Given the description of an element on the screen output the (x, y) to click on. 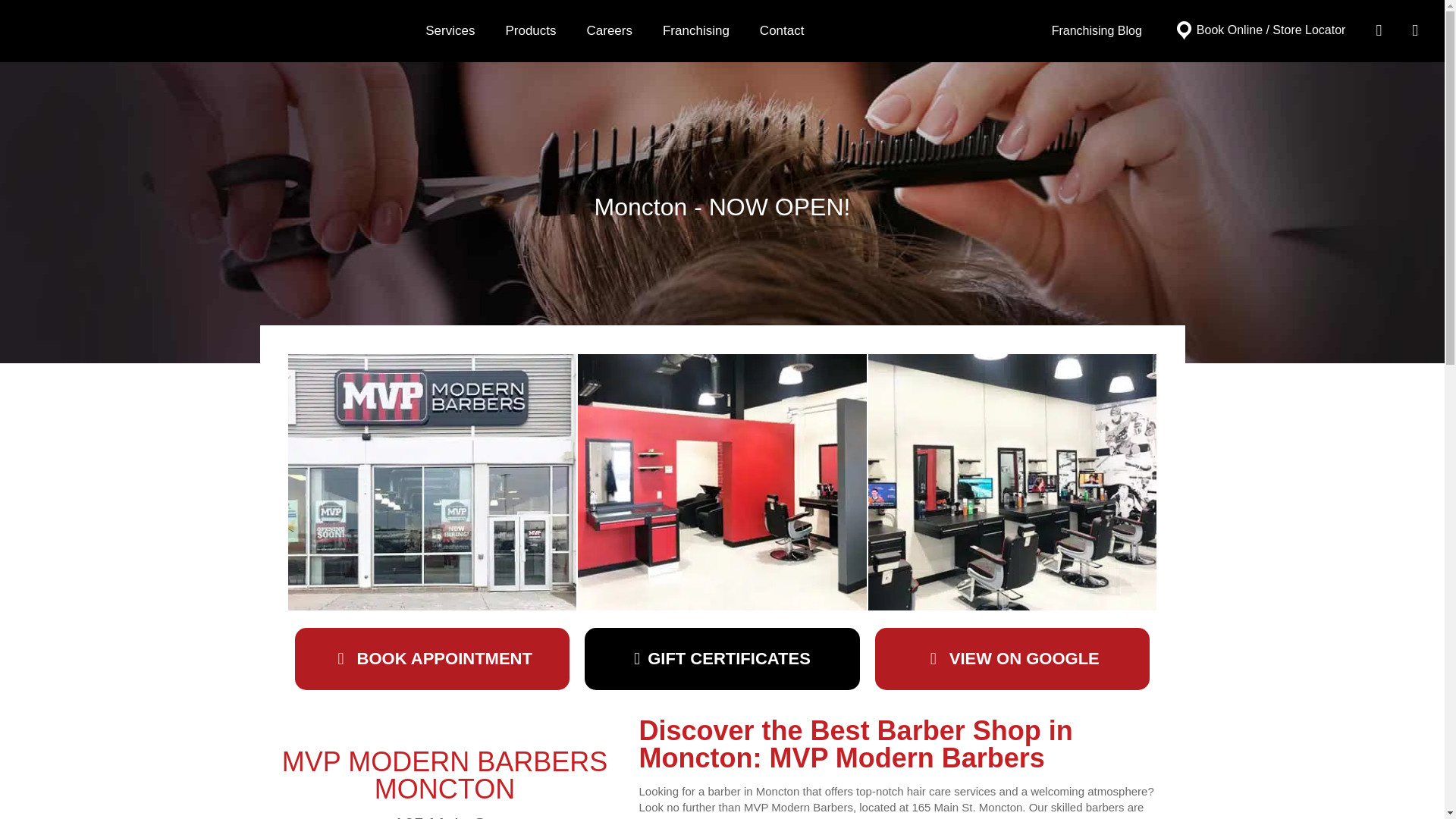
Services (449, 30)
Contact (781, 30)
Franchising (695, 30)
Careers (609, 30)
VIEW ON GOOGLE (1012, 659)
GIFT CERTIFICATES (722, 659)
Products (529, 30)
BOOK APPOINTMENT (432, 659)
Franchising Blog (1096, 30)
